Given the description of an element on the screen output the (x, y) to click on. 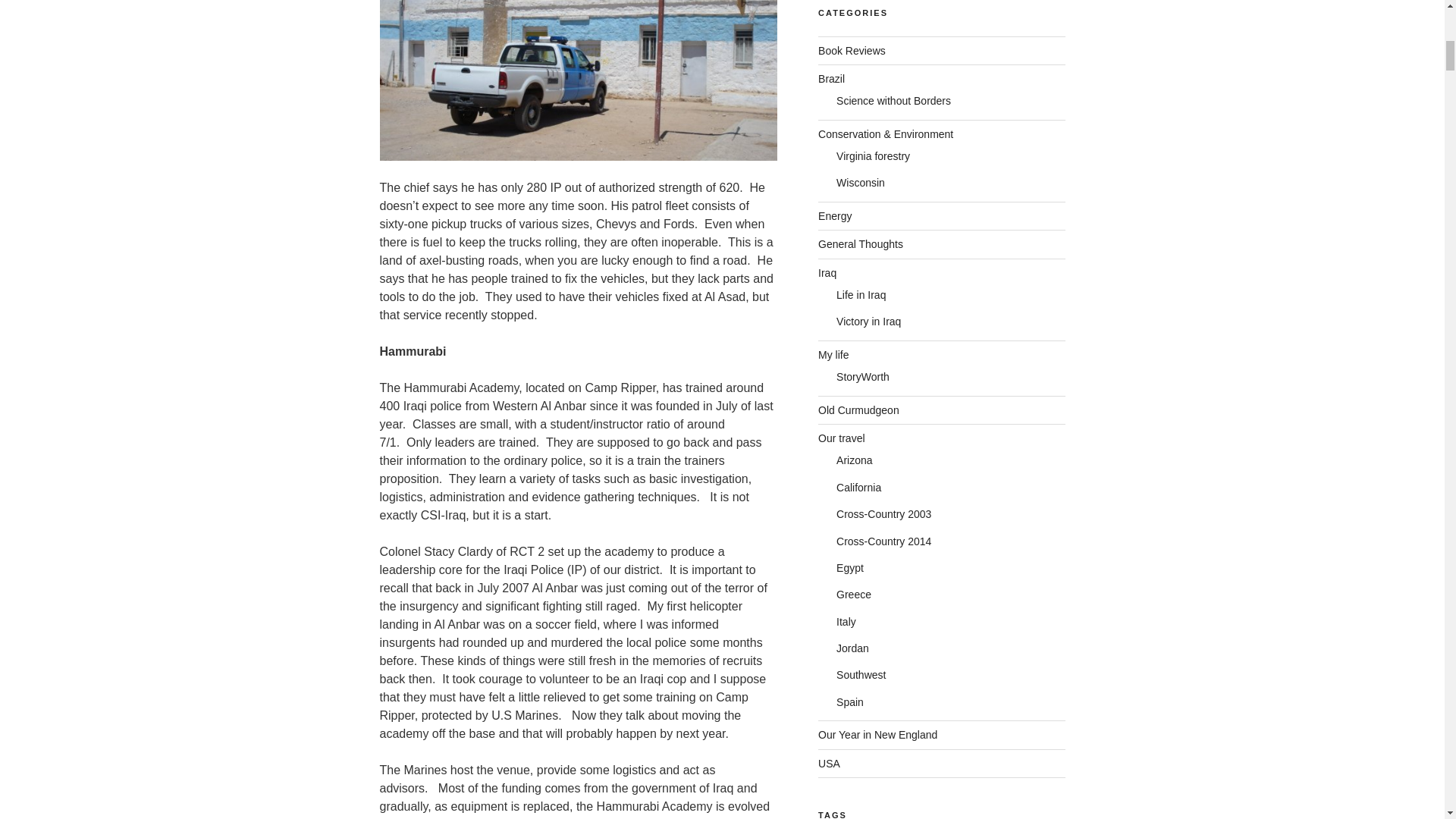
Brazil (831, 78)
Science without Borders (892, 101)
Book Reviews (851, 50)
